Given the description of an element on the screen output the (x, y) to click on. 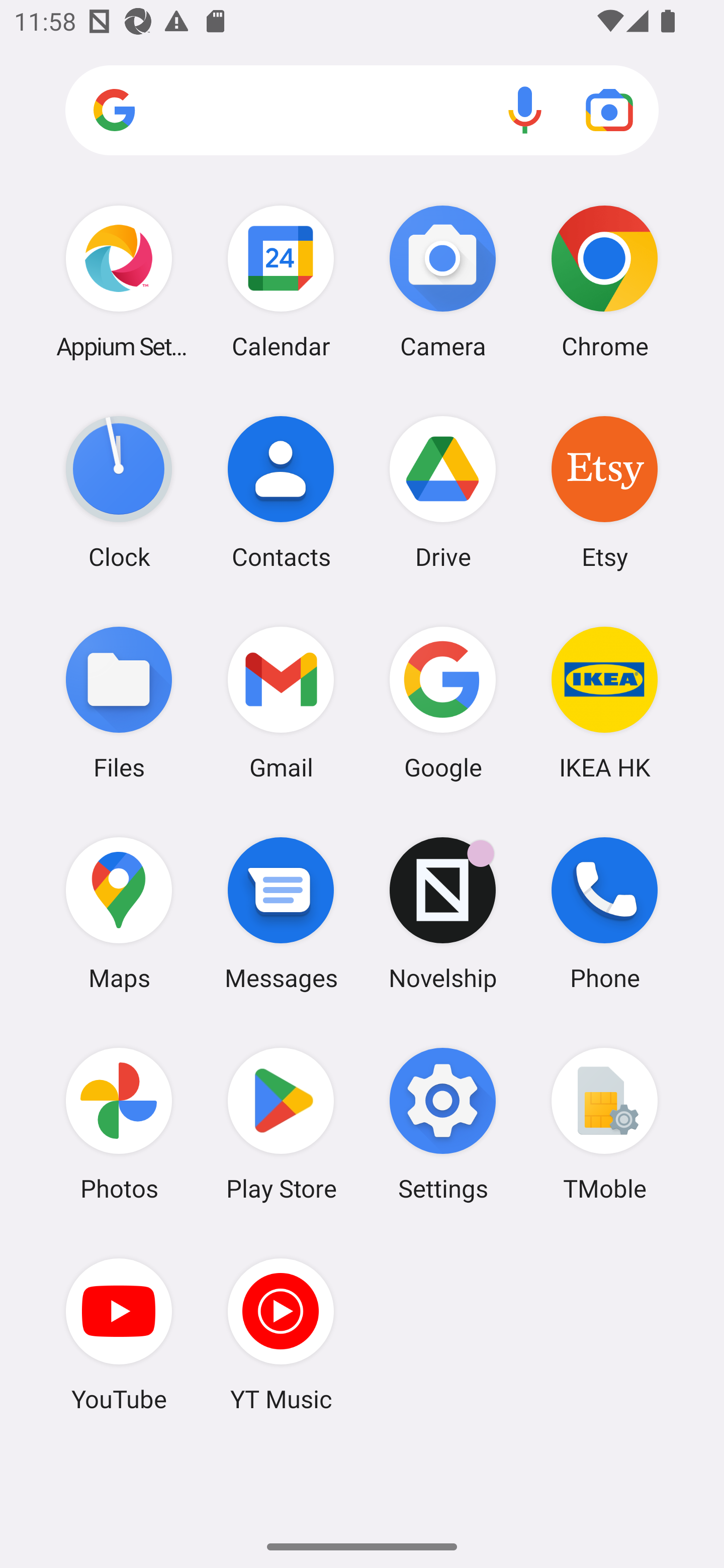
Search apps, web and more (361, 110)
Voice search (524, 109)
Google Lens (608, 109)
Appium Settings (118, 281)
Calendar (280, 281)
Camera (443, 281)
Chrome (604, 281)
Clock (118, 492)
Contacts (280, 492)
Drive (443, 492)
Etsy (604, 492)
Files (118, 702)
Gmail (280, 702)
Google (443, 702)
IKEA HK (604, 702)
Maps (118, 913)
Messages (280, 913)
Novelship Novelship has 5 notifications (443, 913)
Phone (604, 913)
Photos (118, 1124)
Play Store (280, 1124)
Settings (443, 1124)
TMoble (604, 1124)
YouTube (118, 1334)
YT Music (280, 1334)
